Given the description of an element on the screen output the (x, y) to click on. 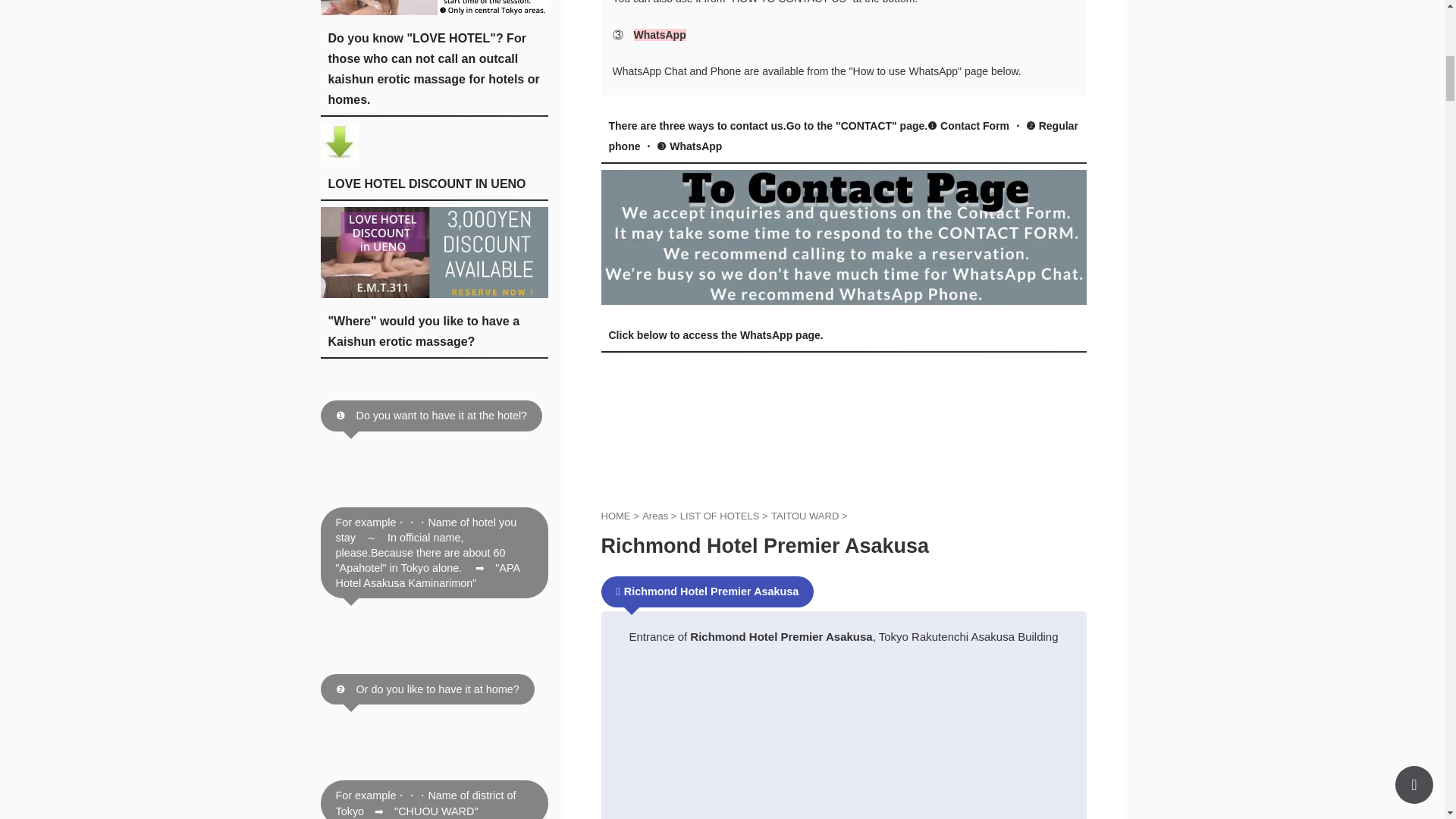
Richmond Hotel Premier Asakusa (656, 515)
Richmond Hotel Premier Asakusa (806, 515)
Richmond Hotel Premier Asakusa (720, 515)
